Given the description of an element on the screen output the (x, y) to click on. 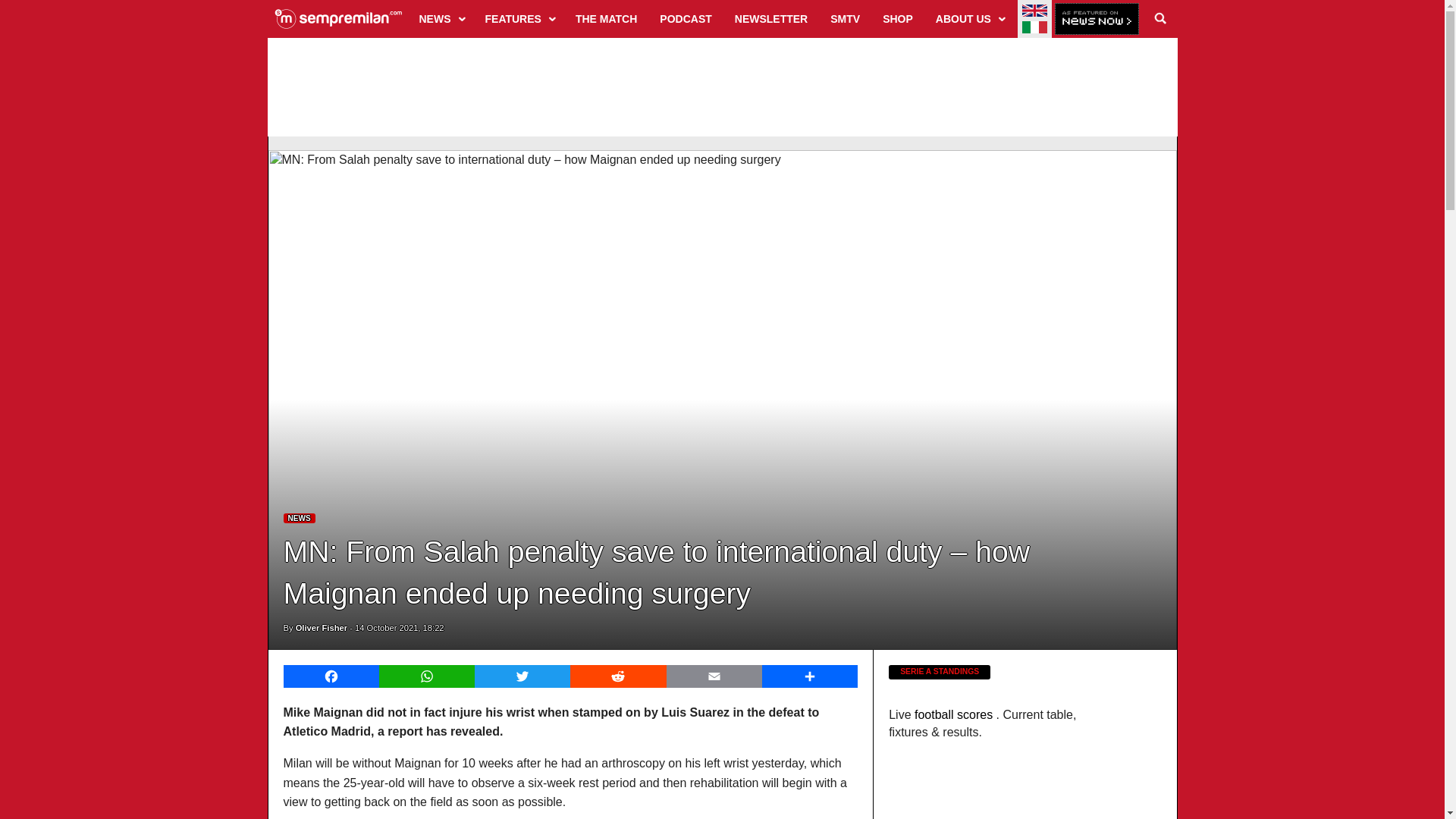
HOME (338, 18)
Latest News News (299, 518)
ABOUT US (968, 18)
Email (713, 676)
FEATURES (518, 18)
Click here for more AC Milan news from NewsNow (1096, 19)
Search (1160, 18)
Currently viewing our English language site (1034, 10)
NEWS (440, 18)
NEWSLETTER (770, 18)
Facebook (330, 676)
Visit our Italian language site (1034, 27)
Twitter (522, 676)
SHOP (897, 18)
Reddit (617, 676)
